Given the description of an element on the screen output the (x, y) to click on. 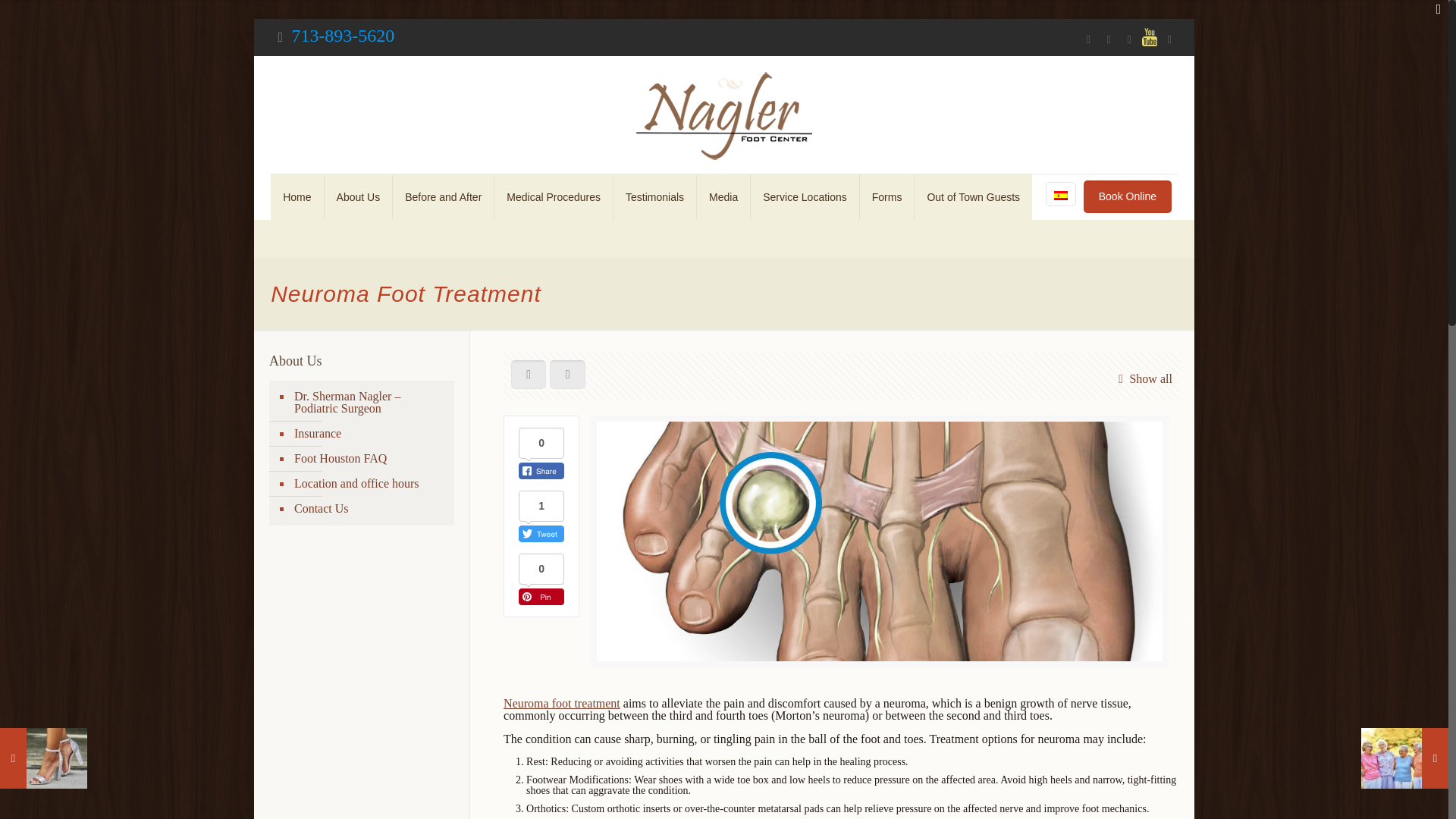
Book Online (1127, 196)
Twitter (1129, 39)
LinkedIn (1169, 39)
About Us (358, 197)
Service Locations (805, 197)
713-893-5620 (342, 35)
Media (724, 197)
Before and After (444, 197)
Testimonials (654, 197)
Home (296, 197)
Forms (887, 197)
Medical Procedures (553, 197)
Out of Town Guests (973, 197)
Facebook (1088, 39)
